Given the description of an element on the screen output the (x, y) to click on. 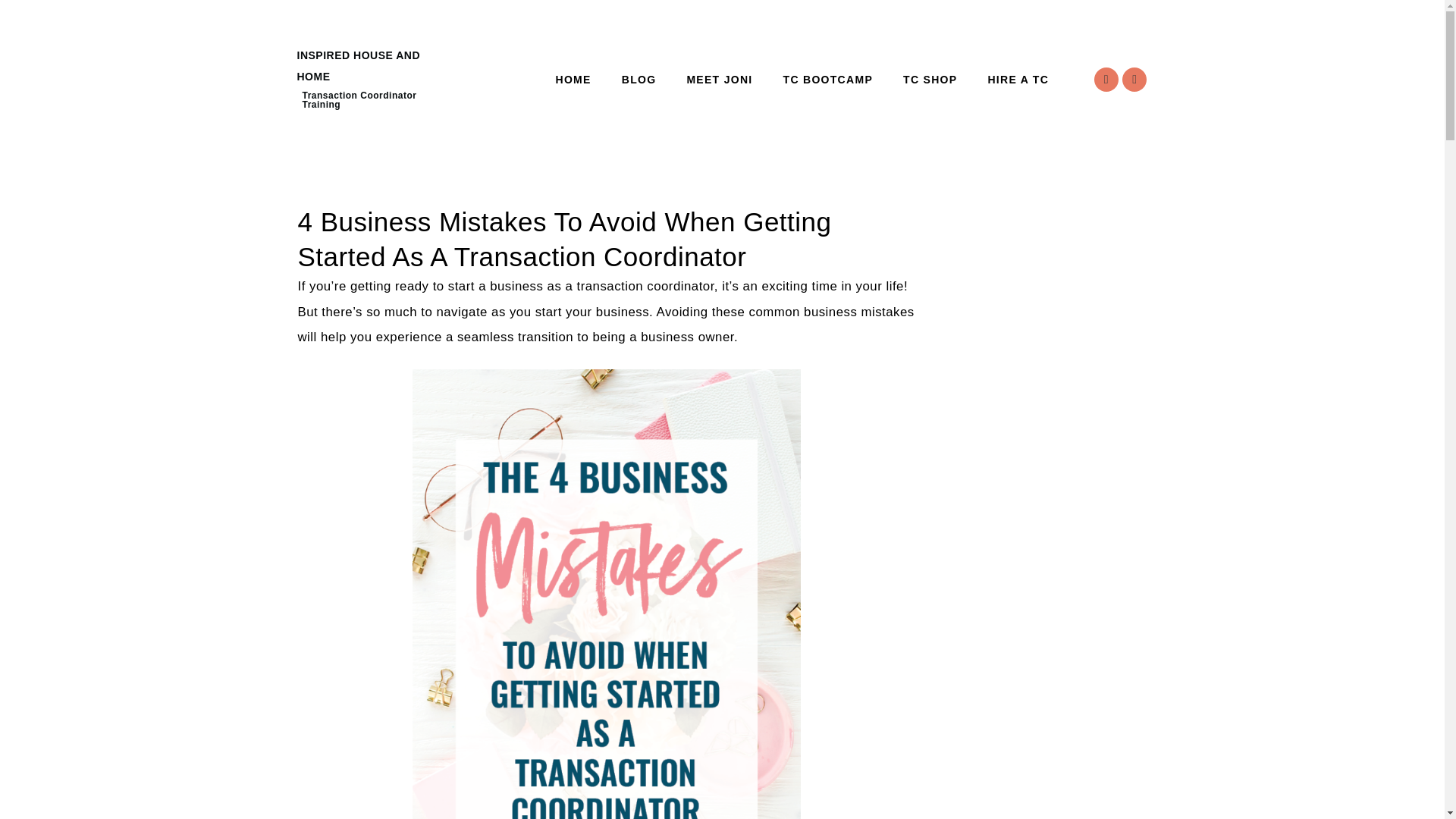
HIRE A TC (1018, 79)
TC BOOTCAMP (828, 79)
TC SHOP (930, 79)
HOME (573, 79)
MEET JONI (719, 79)
BLOG (639, 79)
